Given the description of an element on the screen output the (x, y) to click on. 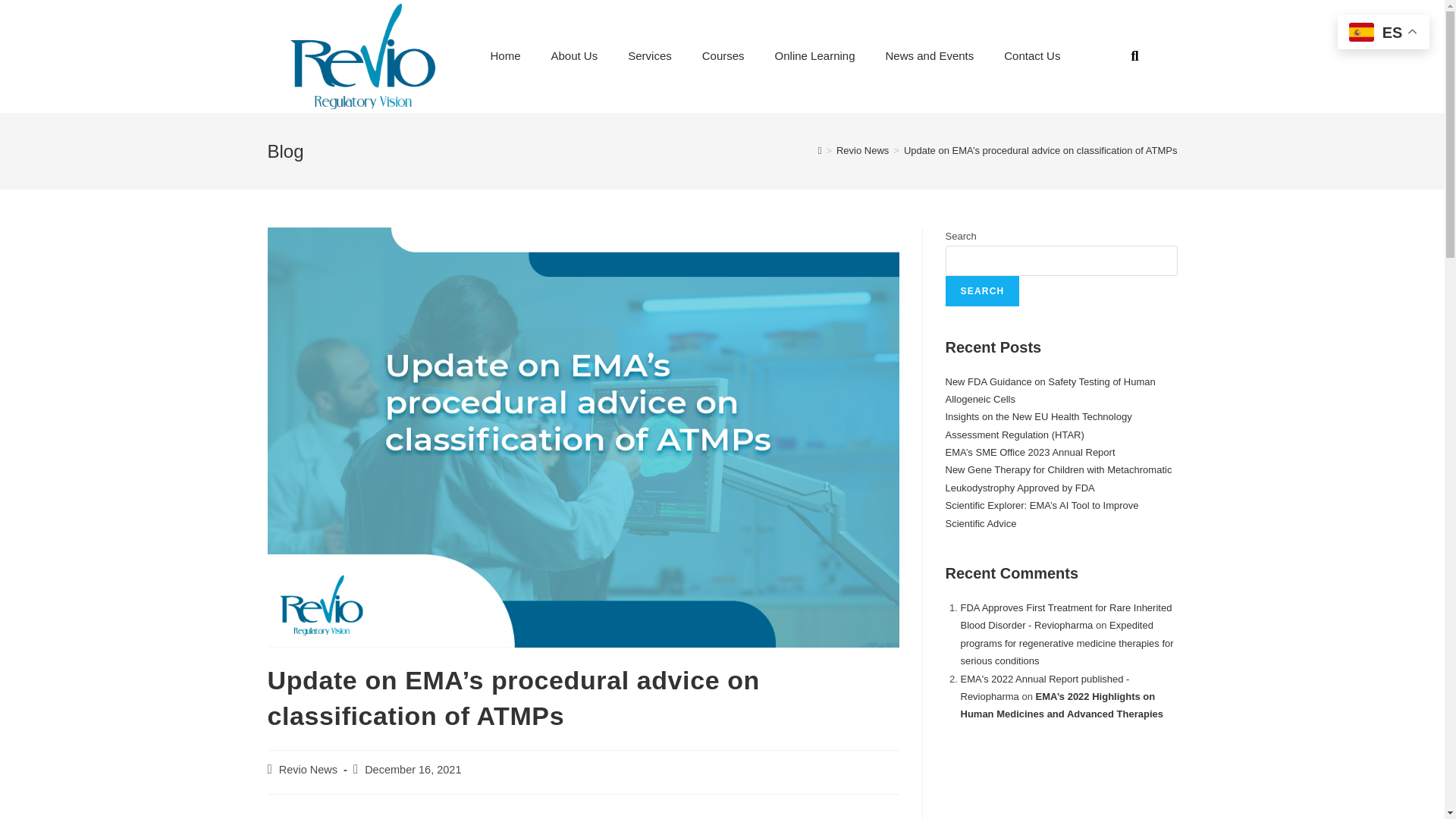
Revio News (308, 769)
Online Learning (815, 56)
Contact Us (1031, 56)
News and Events (930, 56)
Courses (723, 56)
About Us (573, 56)
SEARCH (981, 291)
Services (649, 56)
New FDA Guidance on Safety Testing of Human Allogeneic Cells (1049, 389)
Revio News (861, 150)
EMA's 2022 Annual Report published - Reviopharma (1044, 687)
